Given the description of an element on the screen output the (x, y) to click on. 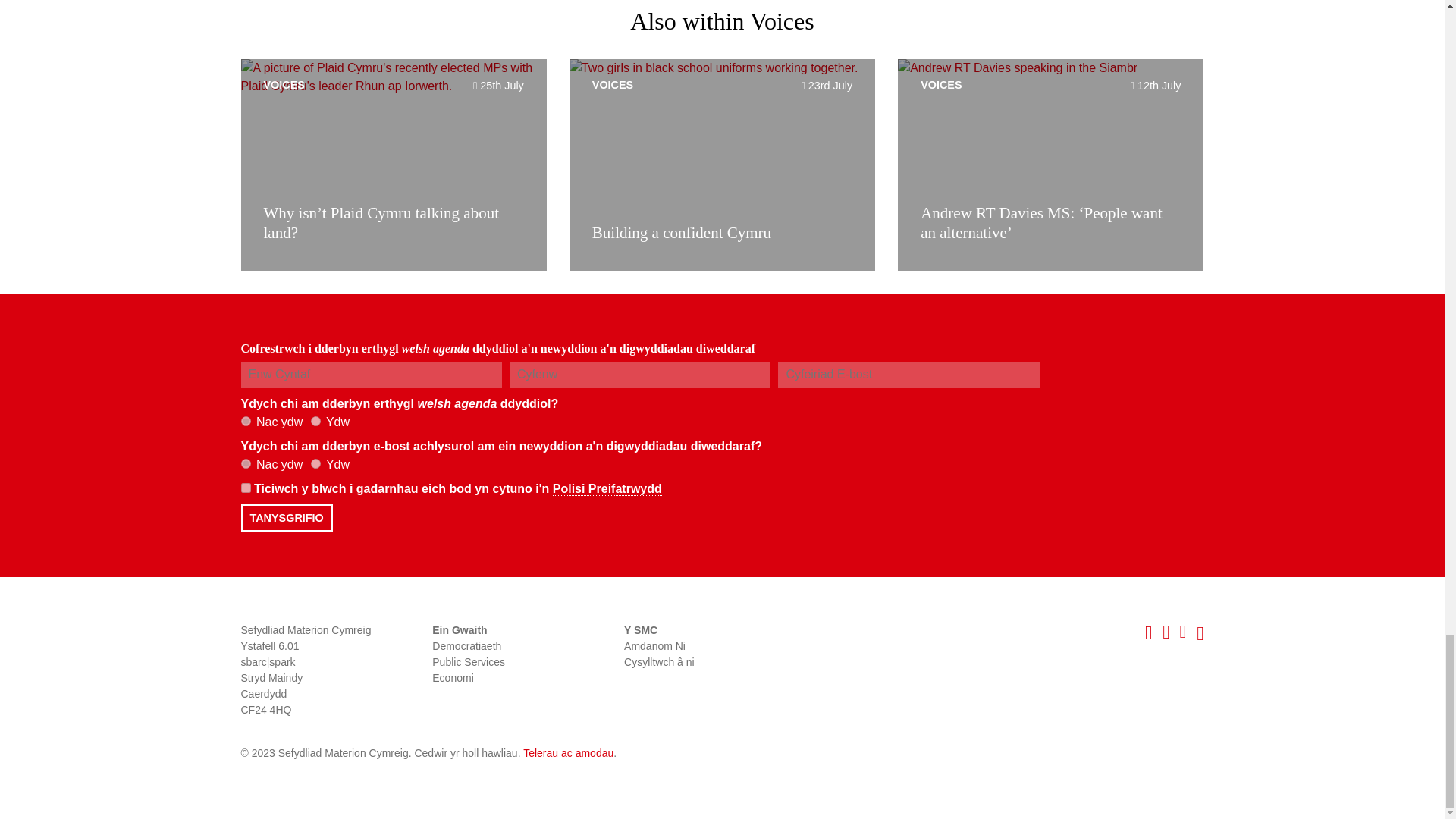
Yes (315, 420)
Tanysgrifio (287, 517)
Yes (315, 463)
on (245, 488)
No (245, 420)
No (245, 463)
